Given the description of an element on the screen output the (x, y) to click on. 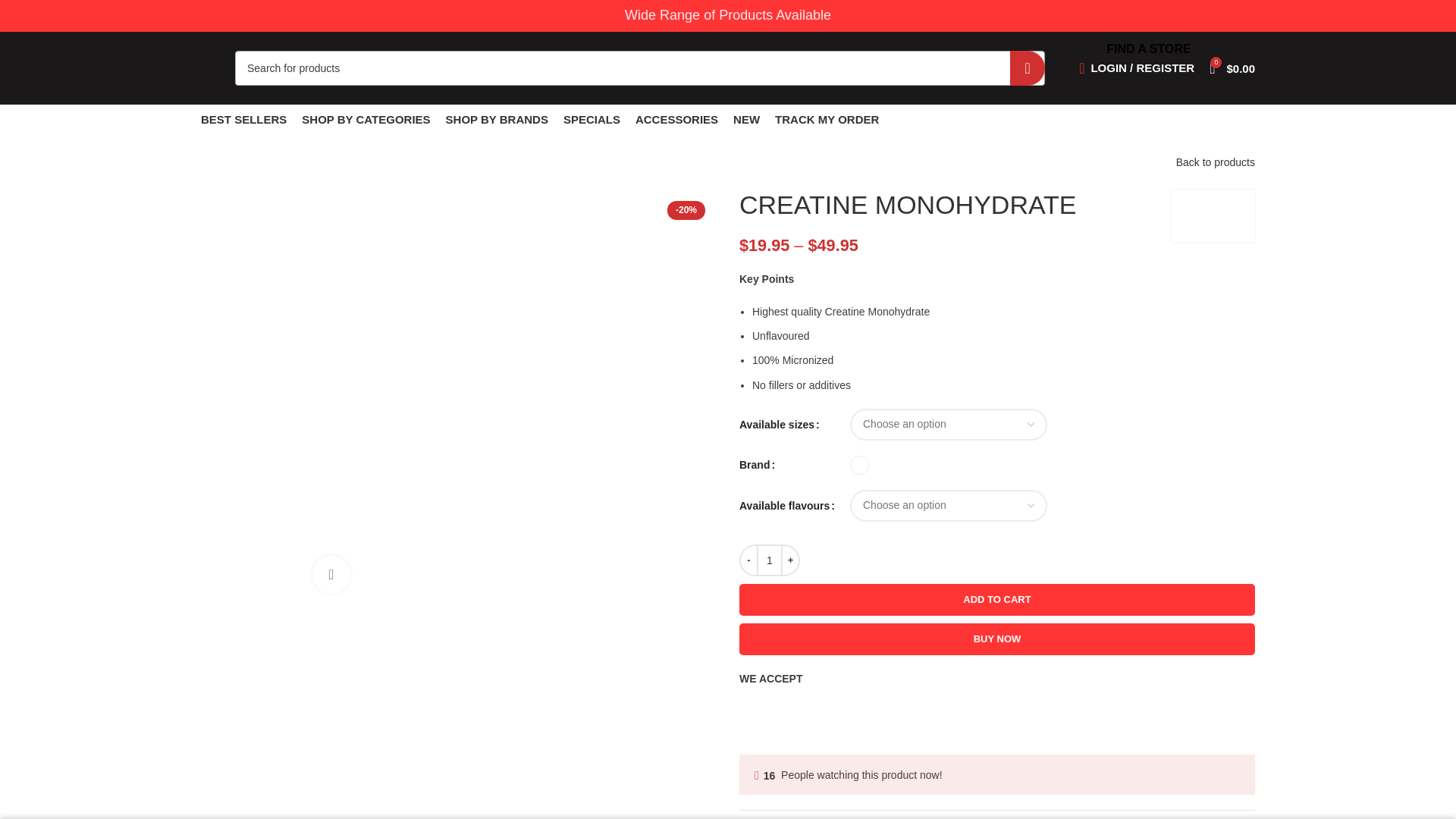
FIND A STORE (1148, 48)
Wide Range of Products Available (727, 14)
Shopping cart (1232, 68)
My account (1136, 68)
SHOP BY CATEGORIES (365, 119)
SPECIALS (591, 119)
Back to products (1215, 162)
BEST SELLERS (243, 119)
BPM Labs (1213, 215)
Search for products (639, 67)
